Given the description of an element on the screen output the (x, y) to click on. 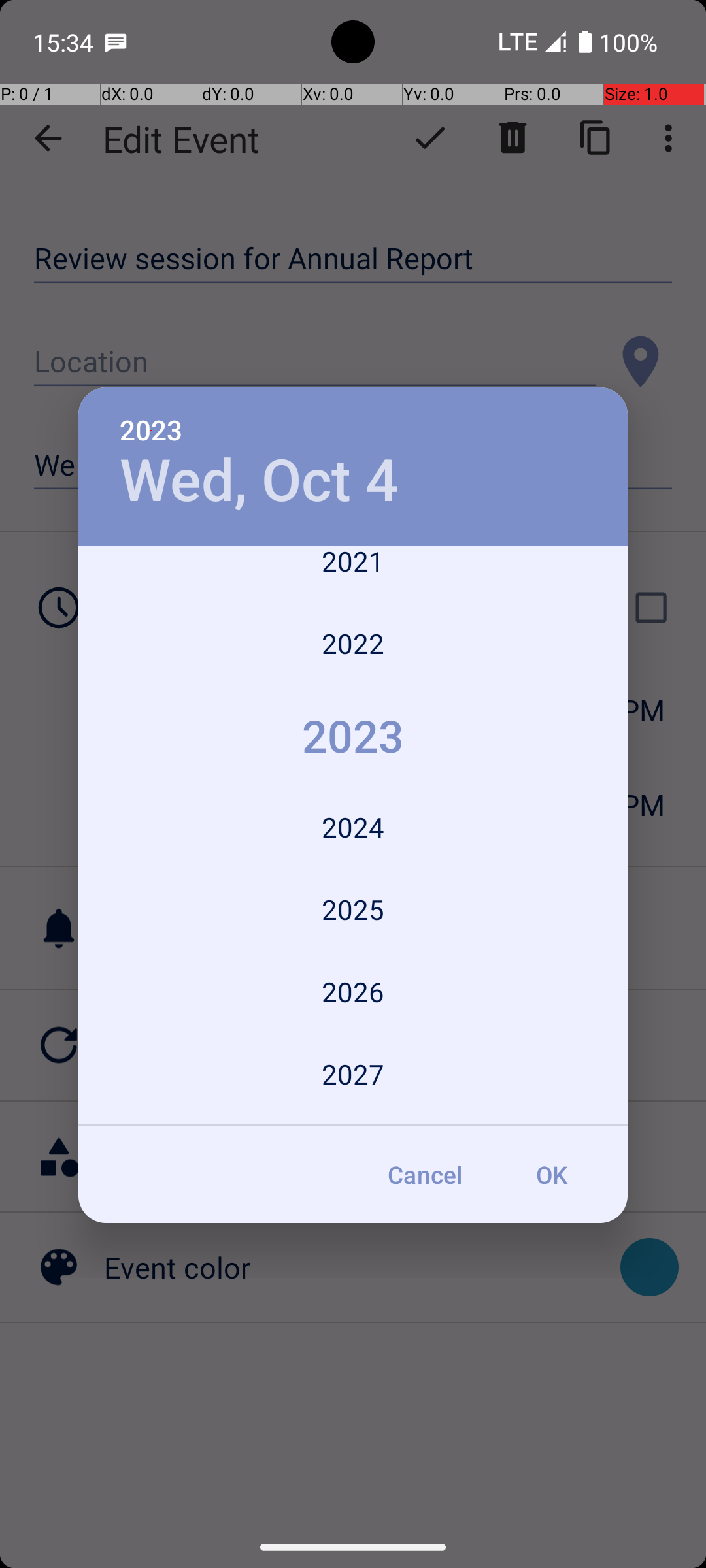
Wed, Oct 4 Element type: android.widget.TextView (258, 480)
2021 Element type: android.widget.TextView (352, 574)
2026 Element type: android.widget.TextView (352, 991)
2027 Element type: android.widget.TextView (352, 1073)
2028 Element type: android.widget.TextView (352, 1120)
